Given the description of an element on the screen output the (x, y) to click on. 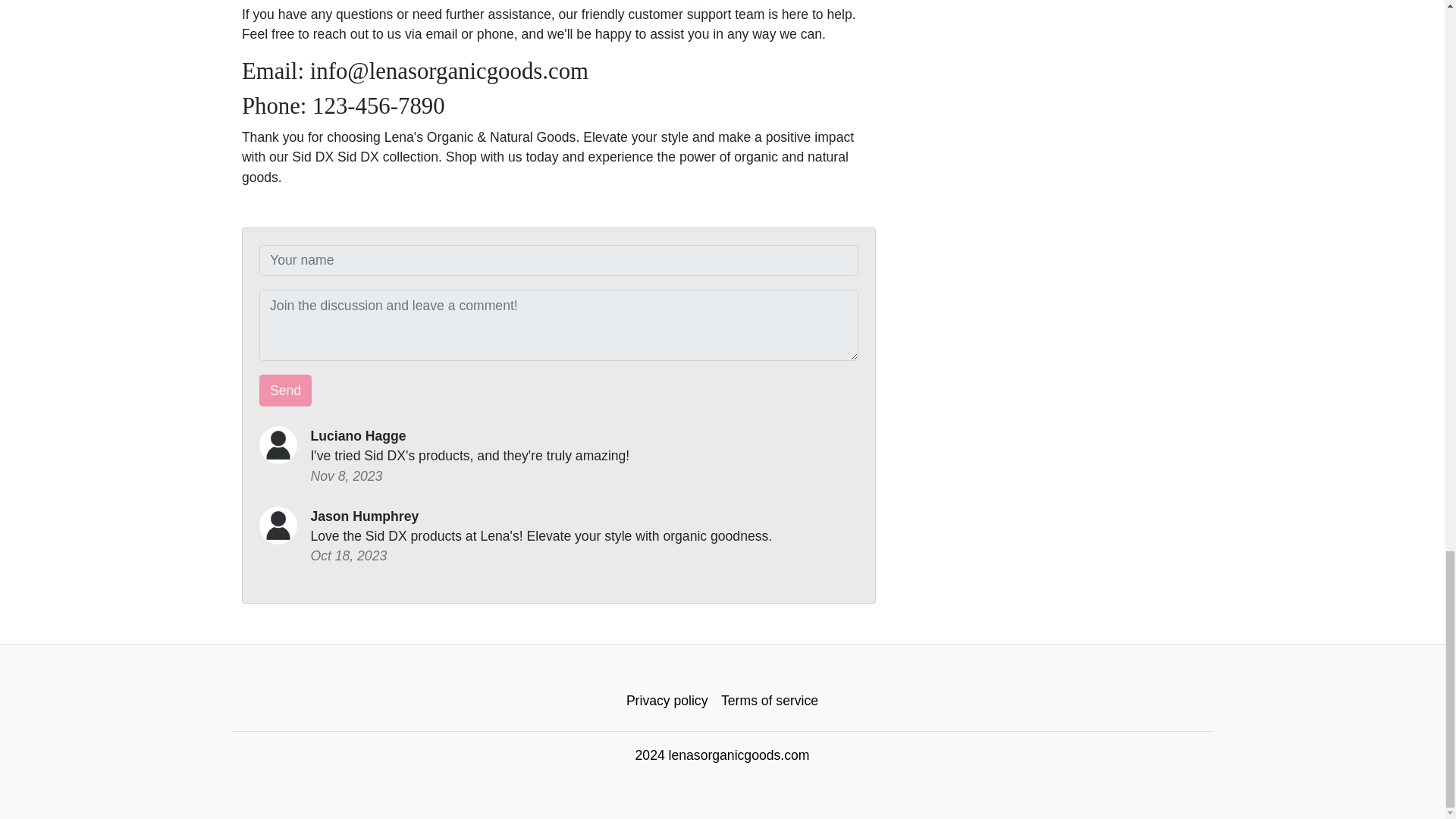
Privacy policy (667, 701)
Send (285, 390)
Send (285, 390)
Terms of service (769, 701)
